Given the description of an element on the screen output the (x, y) to click on. 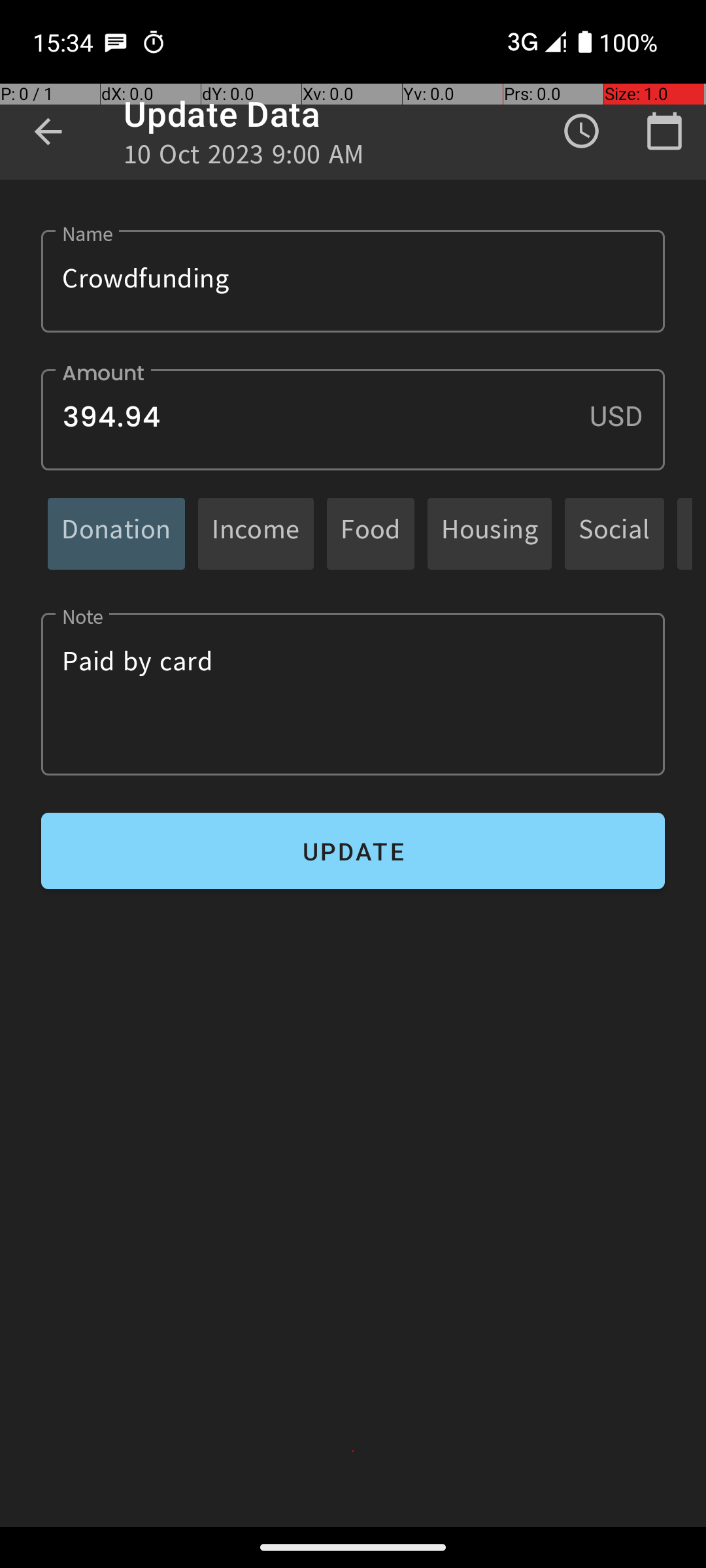
10 Oct 2023 9:00 AM Element type: android.widget.TextView (243, 157)
394.94 Element type: android.widget.EditText (352, 419)
Donation Element type: android.widget.TextView (116, 533)
